Given the description of an element on the screen output the (x, y) to click on. 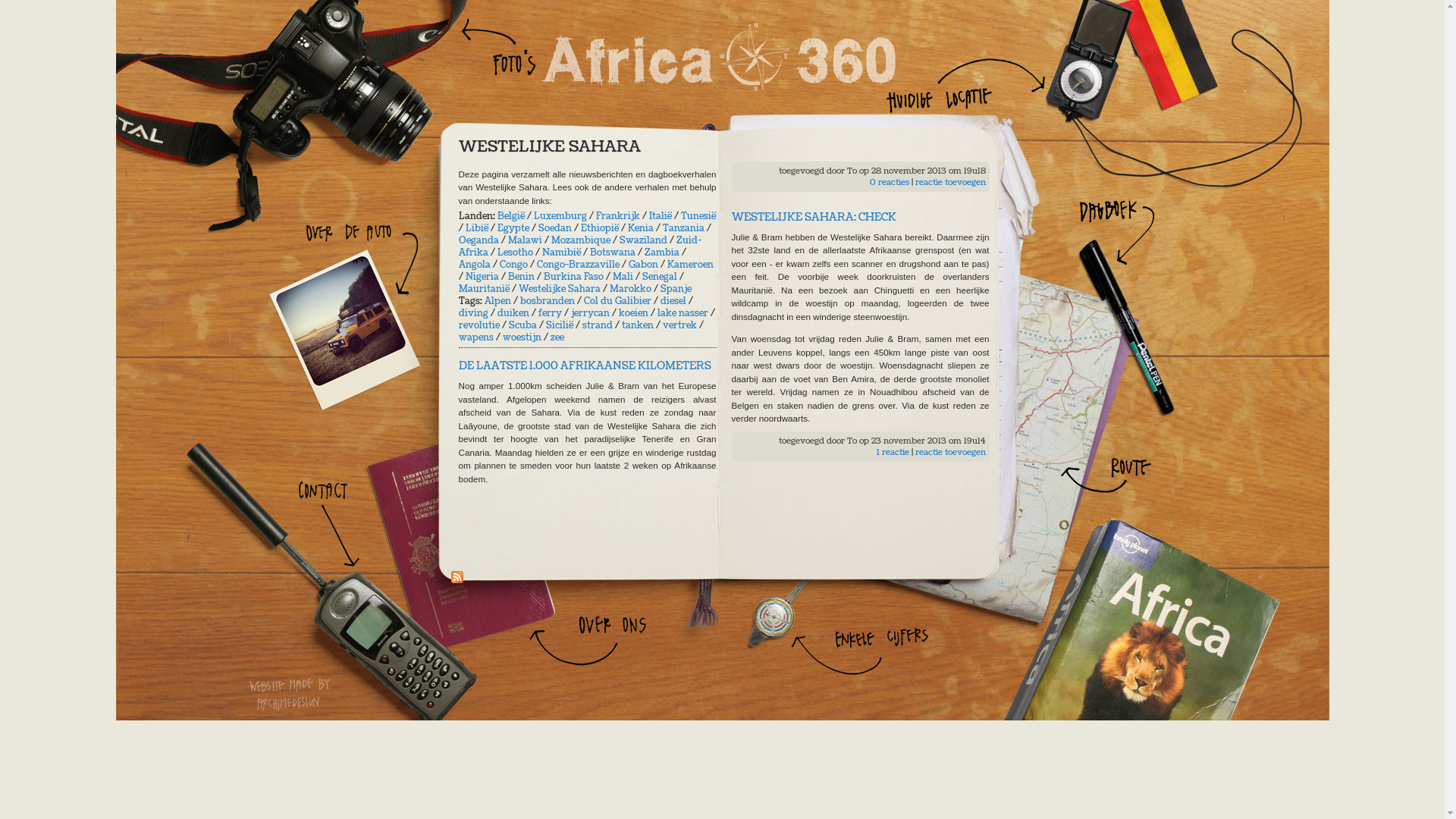
Benin Element type: text (521, 276)
ferry Element type: text (549, 313)
Zuid-Afrika Element type: text (579, 246)
reactie toevoegen Element type: text (949, 452)
Tanzania Element type: text (683, 228)
diving Element type: text (472, 313)
bosbranden Element type: text (547, 300)
diesel Element type: text (672, 300)
lake nasser Element type: text (681, 313)
Overslaan en naar de algemene inhoud gaan Element type: text (88, 0)
Alpen Element type: text (496, 300)
Scuba Element type: text (522, 325)
Kameroen Element type: text (690, 264)
Swaziland Element type: text (642, 240)
duiken Element type: text (513, 313)
WESTELIJKE SAHARA: CHECK Element type: text (813, 217)
Gabon Element type: text (642, 264)
Egypte Element type: text (513, 228)
Luxemburg Element type: text (559, 216)
zee Element type: text (557, 337)
Malawi Element type: text (525, 240)
Westelijke Sahara Element type: text (559, 288)
1 reactie Element type: text (892, 452)
wapens Element type: text (475, 337)
reactie toevoegen Element type: text (949, 182)
Mali Element type: text (622, 276)
Congo-Brazzaville Element type: text (577, 264)
Zambia Element type: text (661, 252)
Kenia Element type: text (640, 228)
koeien Element type: text (633, 313)
woestijn Element type: text (521, 337)
Home Element type: hover (716, 56)
DE LAATSTE 1.000 AFRIKAANSE KILOMETERS Element type: text (584, 365)
Mozambique Element type: text (579, 240)
jerrycan Element type: text (589, 313)
Soedan Element type: text (554, 228)
0 reacties Element type: text (888, 182)
revolutie Element type: text (478, 325)
Congo Element type: text (512, 264)
vertrek Element type: text (679, 325)
Spanje Element type: text (674, 288)
Lesotho Element type: text (515, 252)
strand Element type: text (597, 325)
Nigeria Element type: text (481, 276)
Burkina Faso Element type: text (572, 276)
Col du Galibier Element type: text (617, 300)
Botswana Element type: text (612, 252)
Abonneren op RSS - Westelijke Sahara Element type: hover (456, 579)
Oeganda Element type: text (478, 240)
Marokko Element type: text (630, 288)
Senegal Element type: text (658, 276)
Frankrijk Element type: text (618, 216)
tanken Element type: text (637, 325)
Angola Element type: text (473, 264)
